Given the description of an element on the screen output the (x, y) to click on. 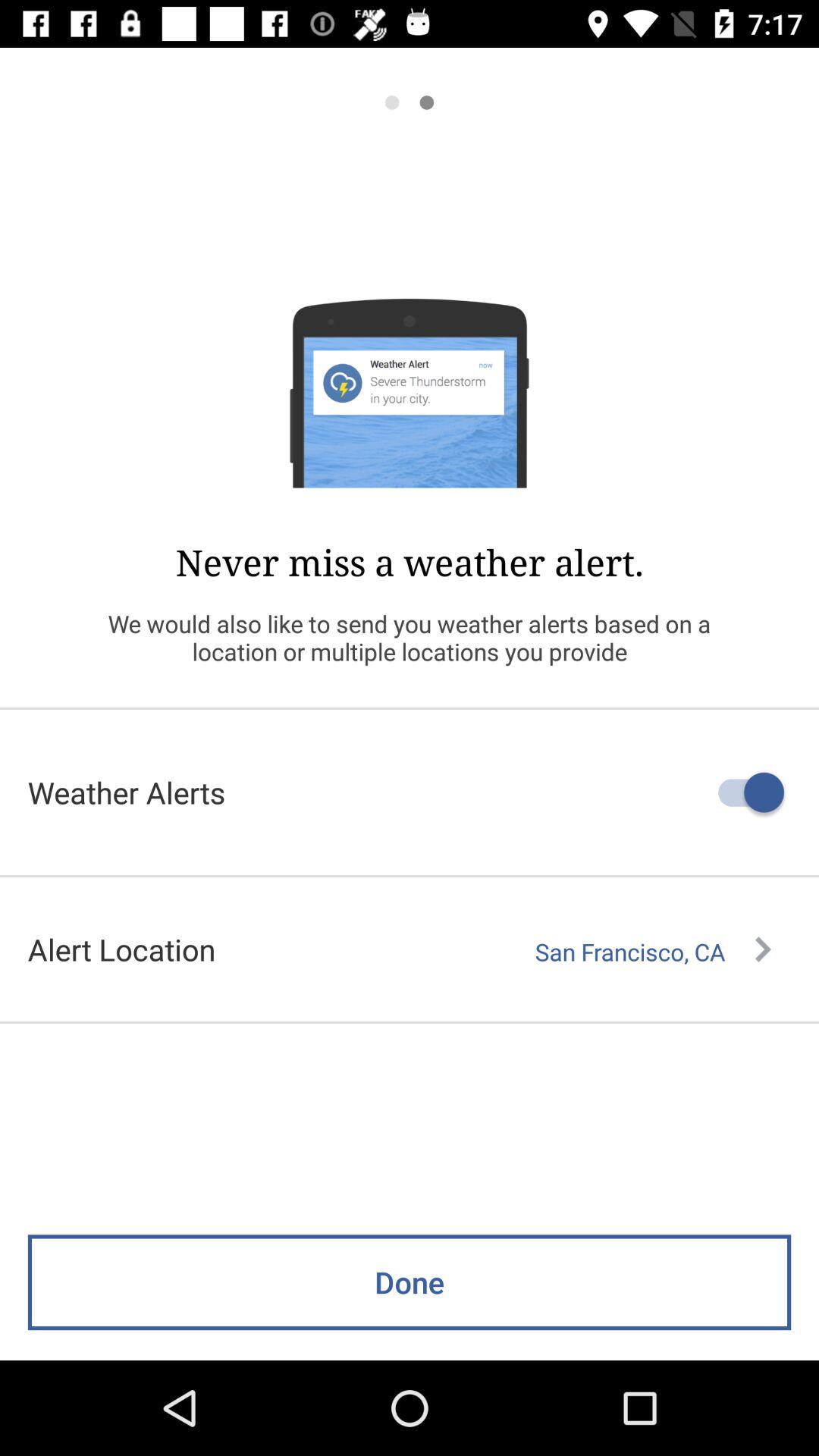
jump to the san francisco, ca icon (653, 951)
